Given the description of an element on the screen output the (x, y) to click on. 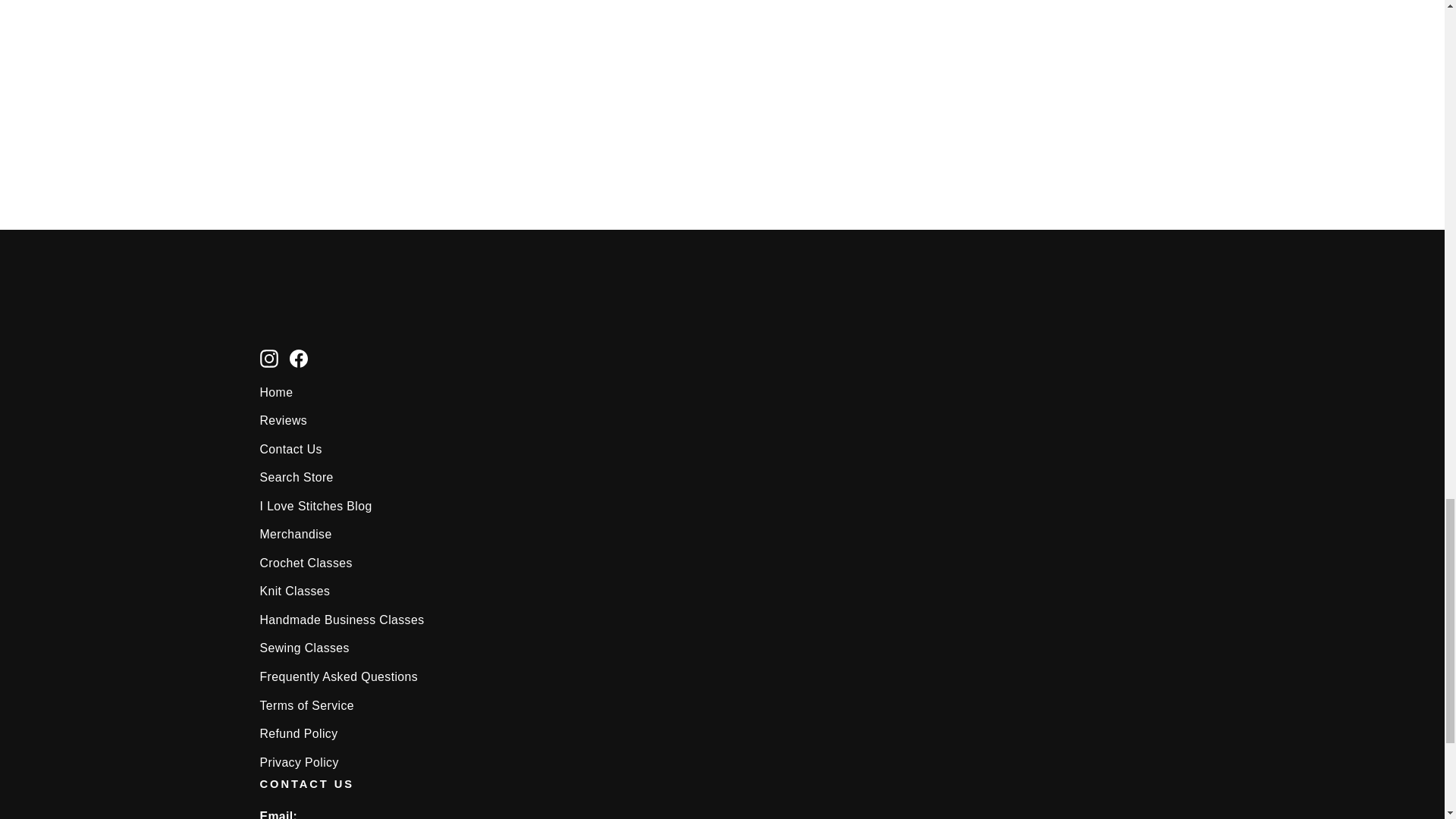
I Love Stitches on Facebook (298, 357)
instagram (268, 358)
